Given the description of an element on the screen output the (x, y) to click on. 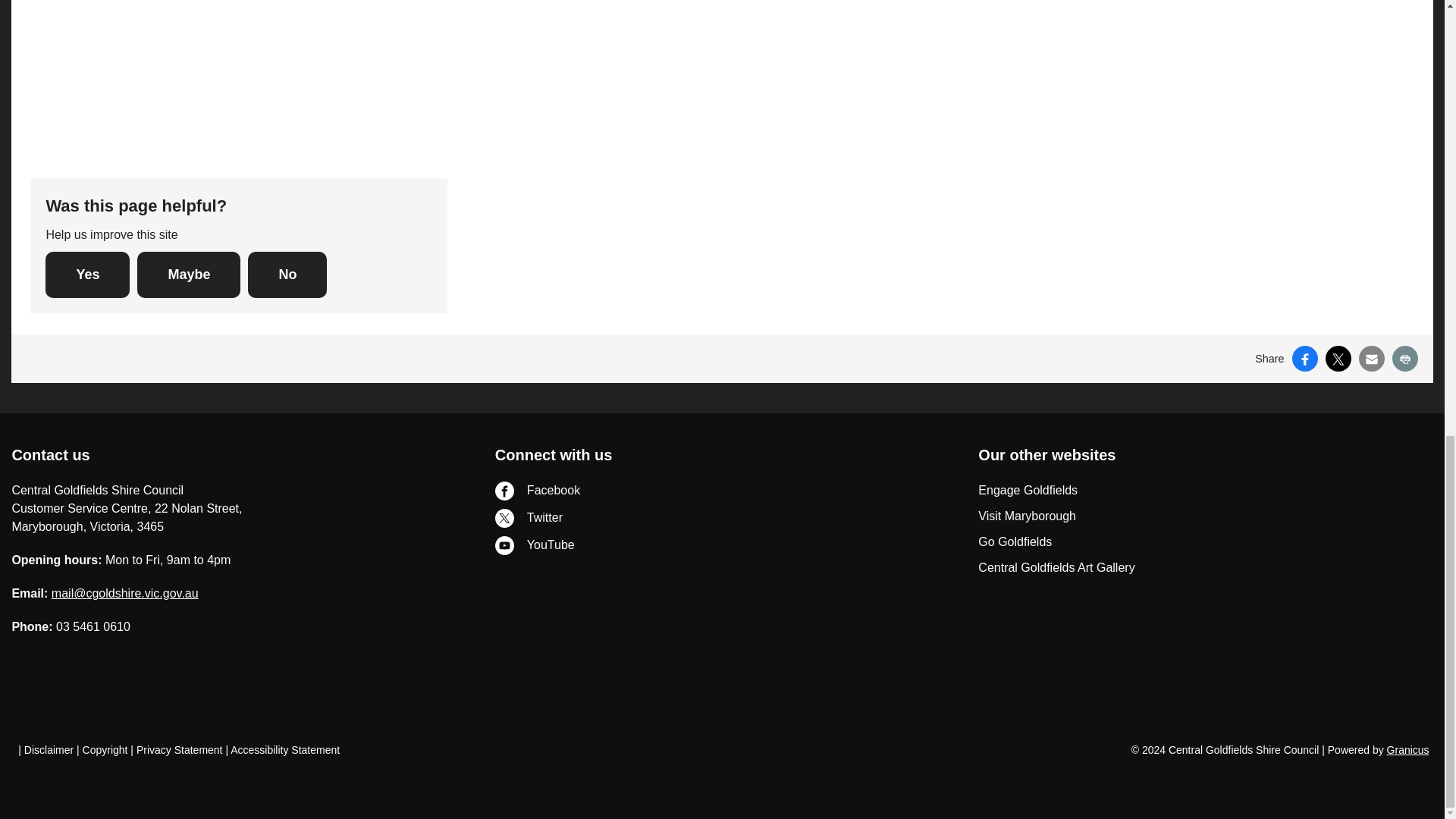
No (286, 274)
No, this page was not helpful (286, 274)
Yes, this page was helpful (87, 274)
Maybe (188, 274)
Yes (87, 274)
